Given the description of an element on the screen output the (x, y) to click on. 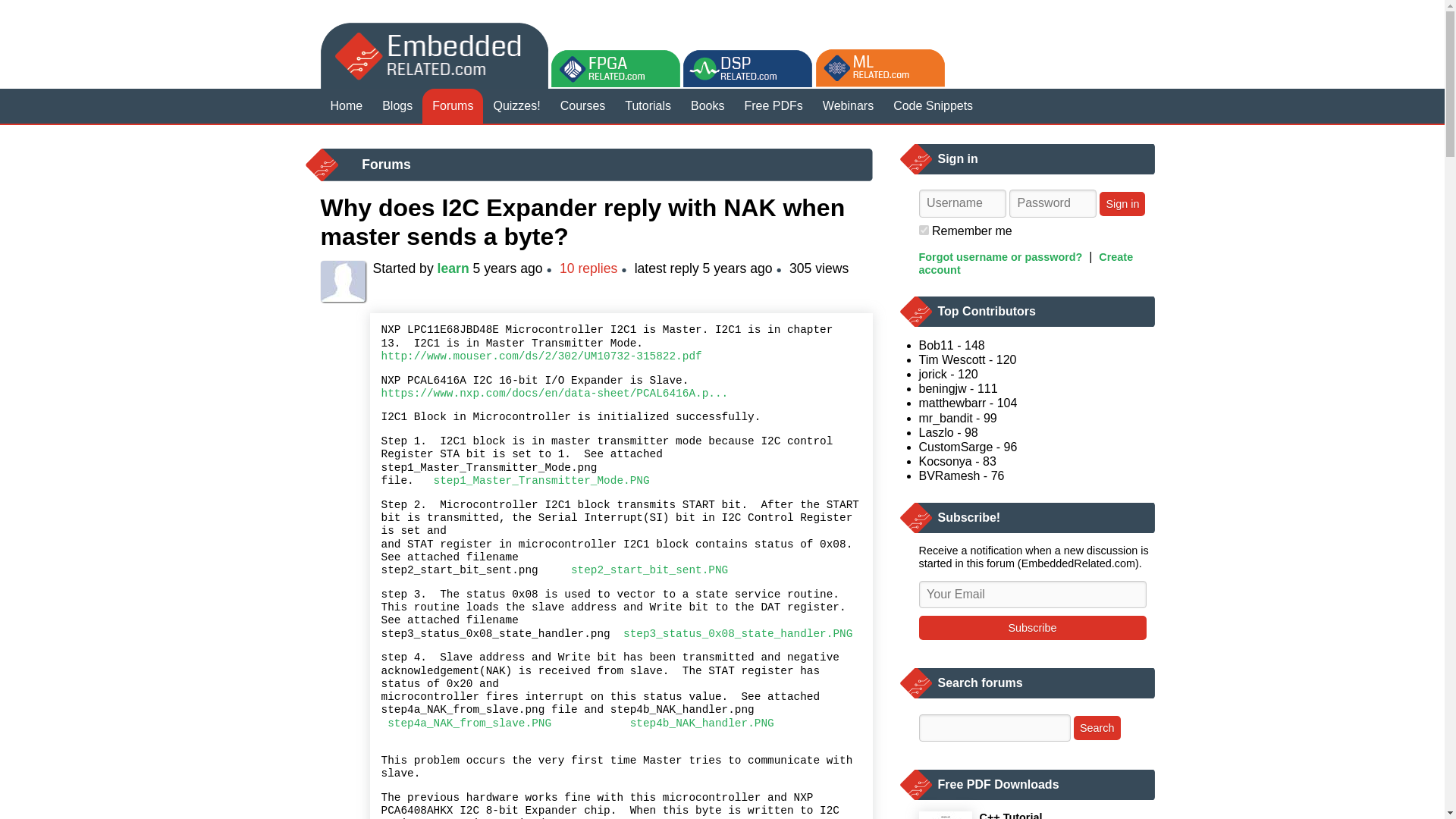
Forums (385, 164)
Webinars (847, 105)
learn (453, 268)
Blogs (397, 105)
Embedded Systems Free PDFs (773, 105)
Quizzes! (516, 105)
checked (923, 230)
Forums (452, 105)
Home (346, 105)
Embedded Systems Blogs (397, 105)
